Given the description of an element on the screen output the (x, y) to click on. 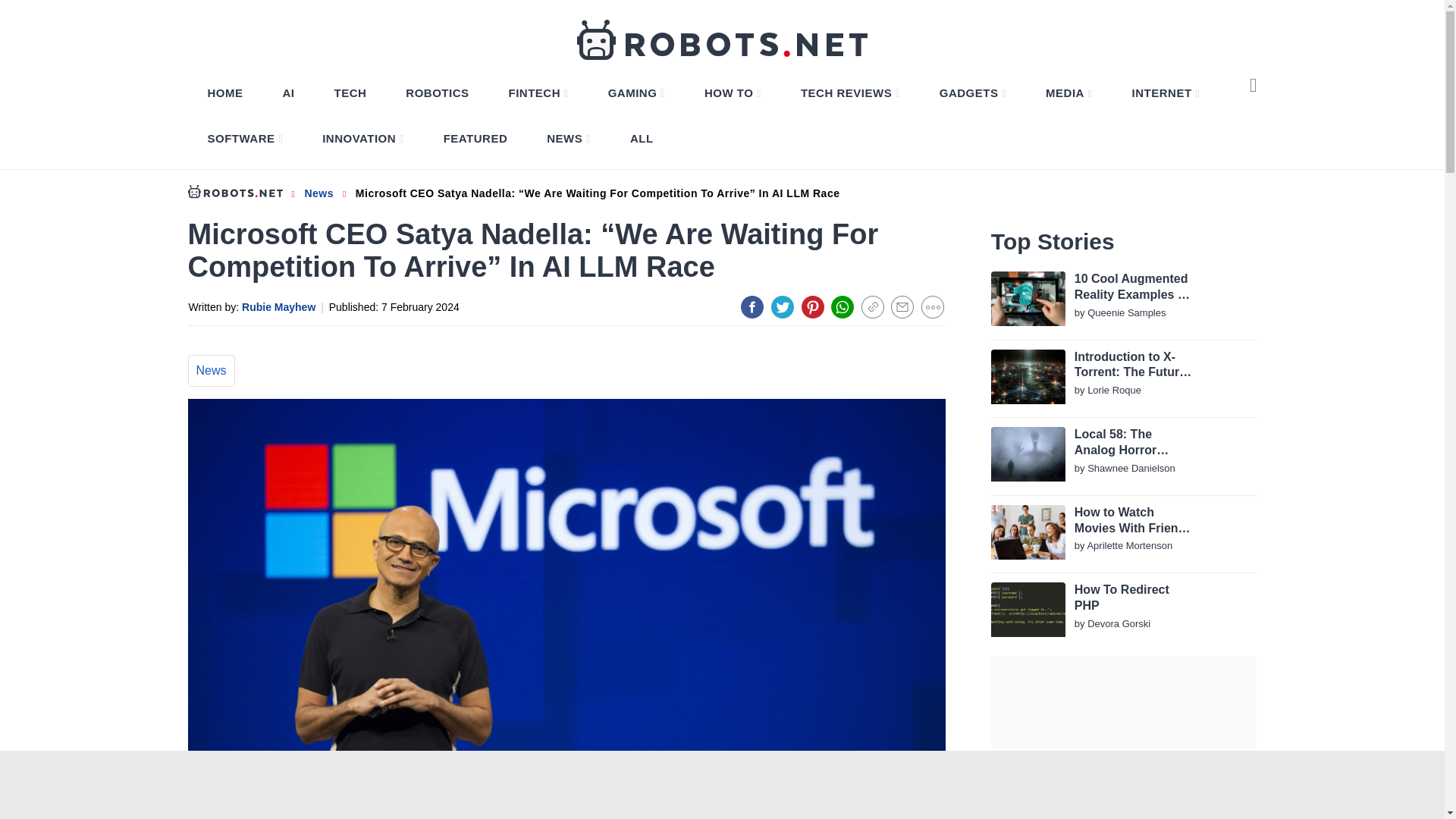
Share on Pinterest (813, 306)
Mail the Link (902, 306)
Share on facebook (751, 306)
Share on twitter (782, 306)
ROBOTICS (436, 93)
FINTECH (538, 93)
Copy to Clipboard (872, 306)
HOW TO (732, 93)
GADGETS (972, 93)
HOME (225, 93)
GAMING (635, 93)
MEDIA (1068, 93)
View Less (932, 306)
AI (288, 93)
TECH (350, 93)
